Given the description of an element on the screen output the (x, y) to click on. 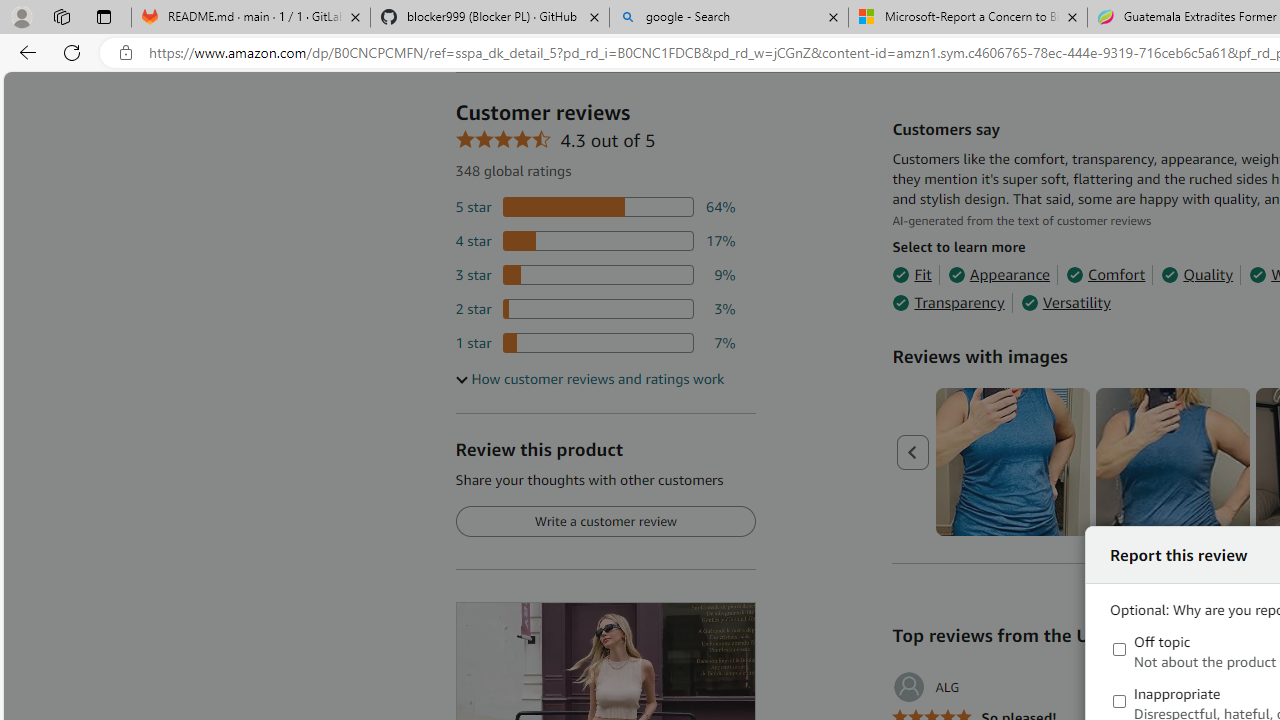
Versatility (1065, 303)
Appearance (998, 274)
3 percent of reviews have 2 stars (595, 308)
Transparency (948, 303)
Comfort (1105, 274)
Quality (1196, 274)
Fit (911, 274)
Previous page (913, 452)
